Given the description of an element on the screen output the (x, y) to click on. 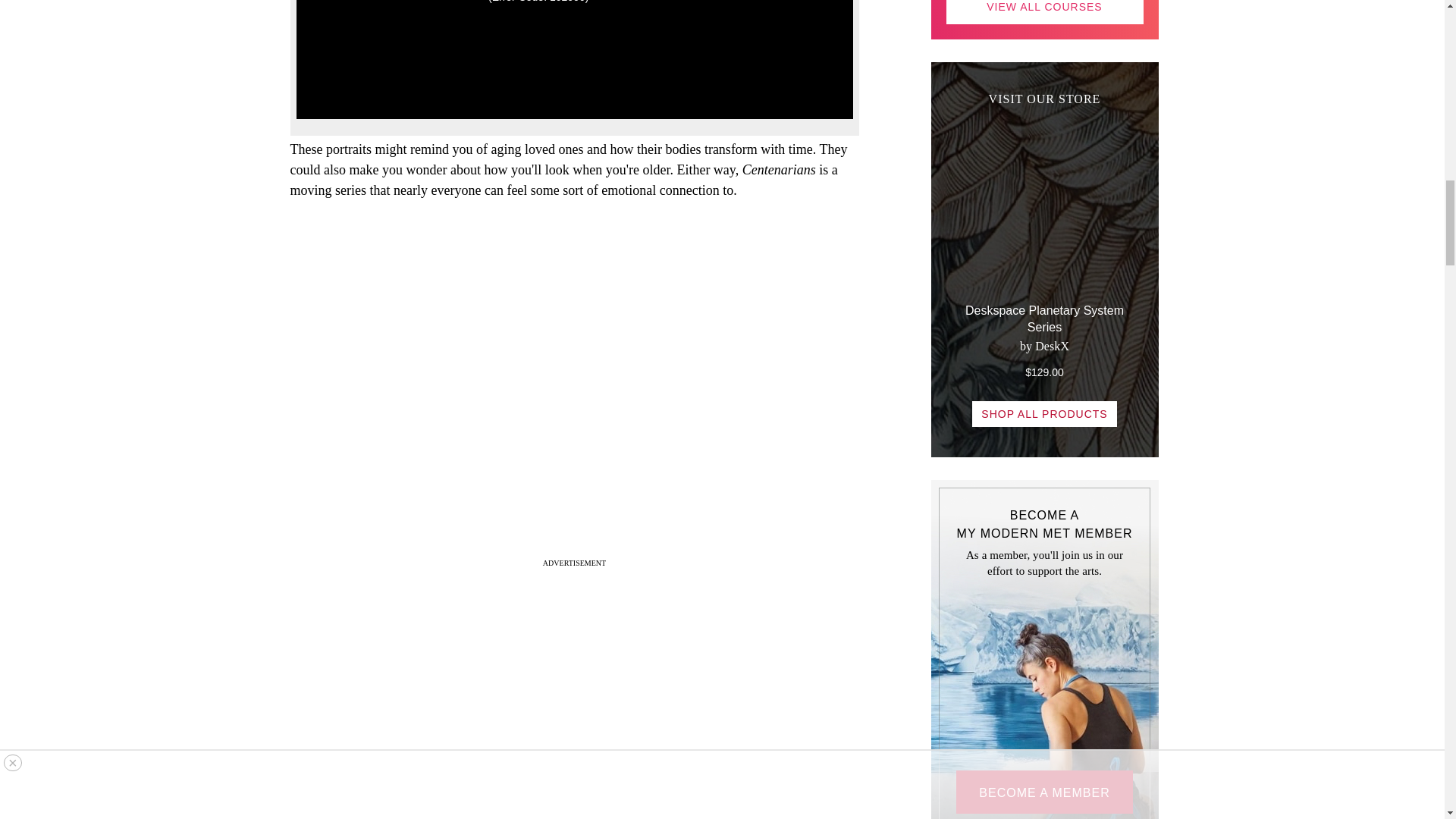
Visit Our Store (1044, 266)
